Given the description of an element on the screen output the (x, y) to click on. 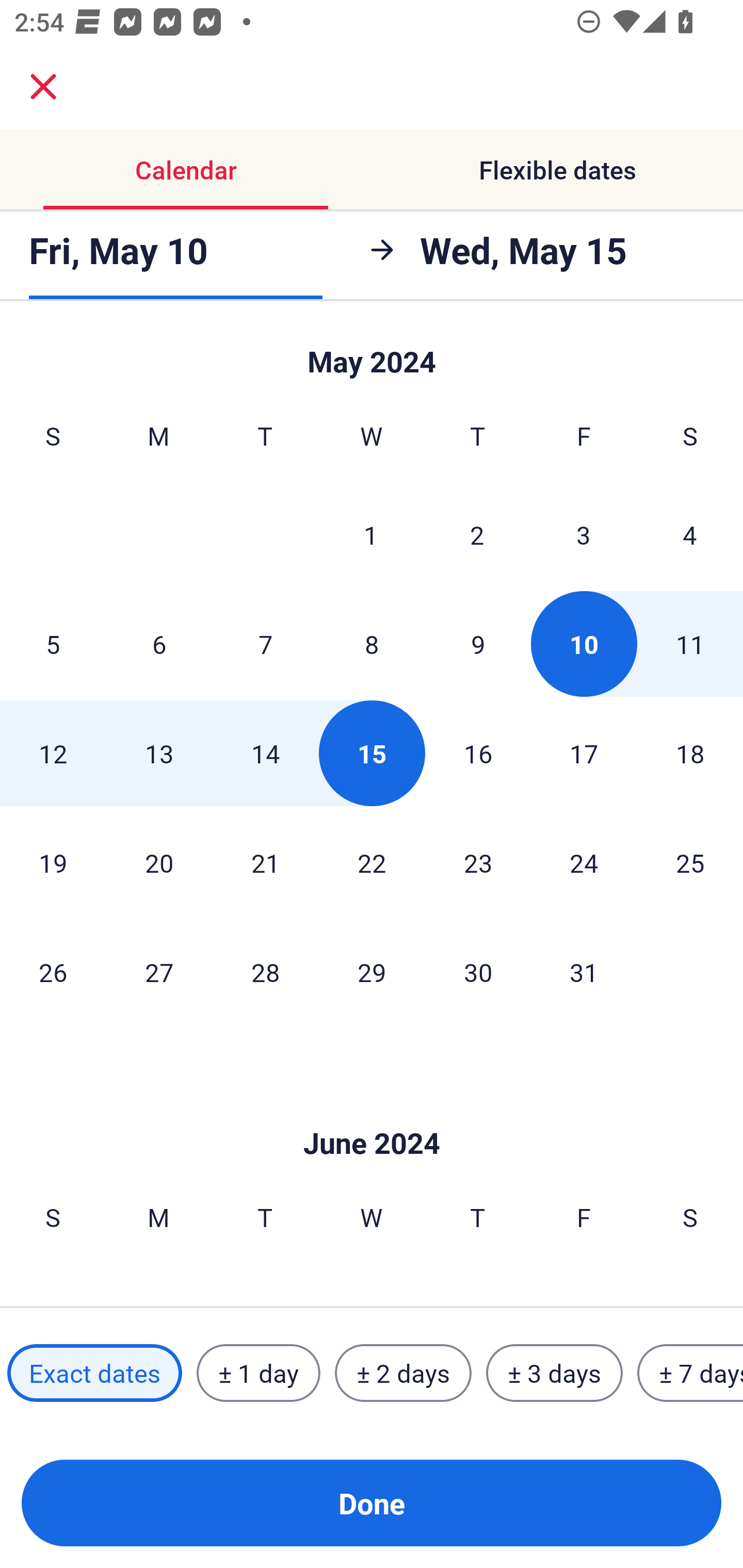
close. (43, 86)
Flexible dates (557, 170)
Skip to Done (371, 352)
1 Wednesday, May 1, 2024 (371, 534)
2 Thursday, May 2, 2024 (477, 534)
3 Friday, May 3, 2024 (583, 534)
4 Saturday, May 4, 2024 (689, 534)
5 Sunday, May 5, 2024 (53, 643)
6 Monday, May 6, 2024 (159, 643)
7 Tuesday, May 7, 2024 (265, 643)
8 Wednesday, May 8, 2024 (371, 643)
9 Thursday, May 9, 2024 (477, 643)
16 Thursday, May 16, 2024 (477, 752)
17 Friday, May 17, 2024 (584, 752)
18 Saturday, May 18, 2024 (690, 752)
19 Sunday, May 19, 2024 (53, 862)
20 Monday, May 20, 2024 (159, 862)
21 Tuesday, May 21, 2024 (265, 862)
22 Wednesday, May 22, 2024 (371, 862)
23 Thursday, May 23, 2024 (477, 862)
24 Friday, May 24, 2024 (584, 862)
25 Saturday, May 25, 2024 (690, 862)
26 Sunday, May 26, 2024 (53, 971)
27 Monday, May 27, 2024 (159, 971)
28 Tuesday, May 28, 2024 (265, 971)
29 Wednesday, May 29, 2024 (371, 971)
30 Thursday, May 30, 2024 (477, 971)
31 Friday, May 31, 2024 (584, 971)
Skip to Done (371, 1112)
Exact dates (94, 1372)
± 1 day (258, 1372)
± 2 days (403, 1372)
± 3 days (553, 1372)
± 7 days (690, 1372)
Done (371, 1502)
